Given the description of an element on the screen output the (x, y) to click on. 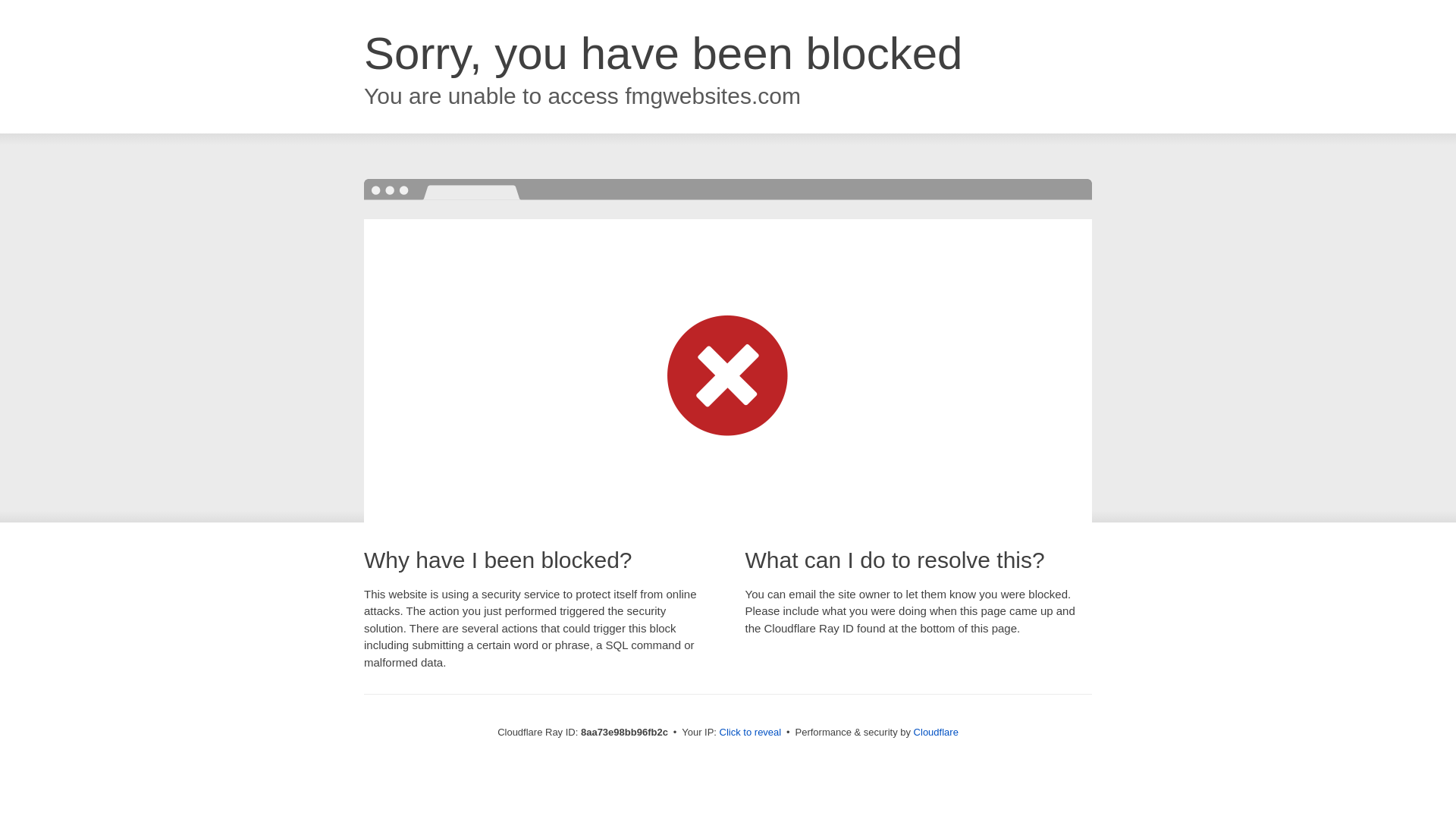
Cloudflare (936, 731)
Click to reveal (750, 732)
